Given the description of an element on the screen output the (x, y) to click on. 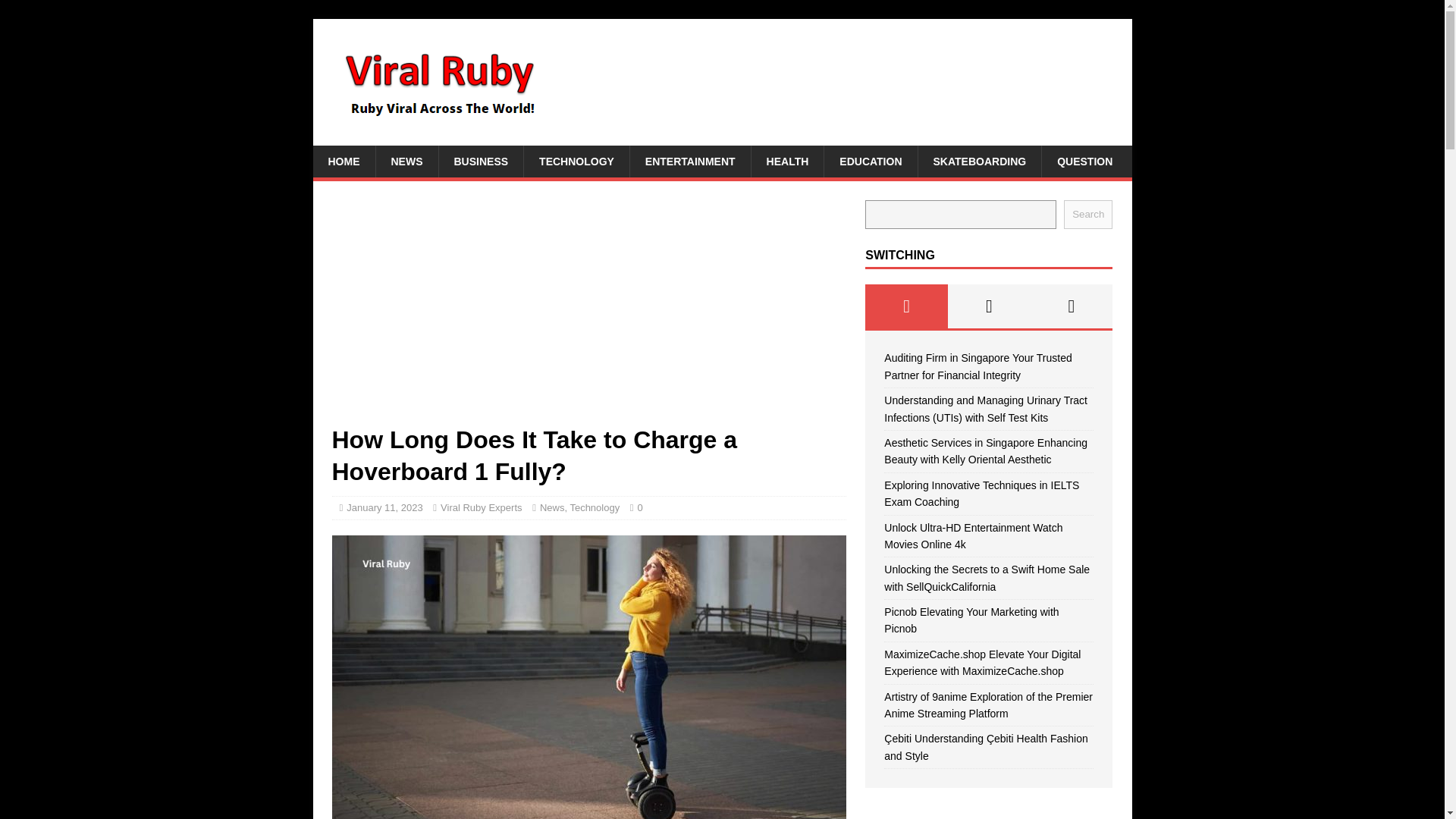
BUSINESS (481, 161)
TECHNOLOGY (575, 161)
NEWS (406, 161)
SKATEBOARDING (979, 161)
HOME (343, 161)
HEALTH (787, 161)
ENTERTAINMENT (689, 161)
Search (1088, 213)
EDUCATION (870, 161)
January 11, 2023 (384, 507)
Viral Ruby Experts (481, 507)
News (552, 507)
Technology (594, 507)
Advertisement (588, 312)
